Given the description of an element on the screen output the (x, y) to click on. 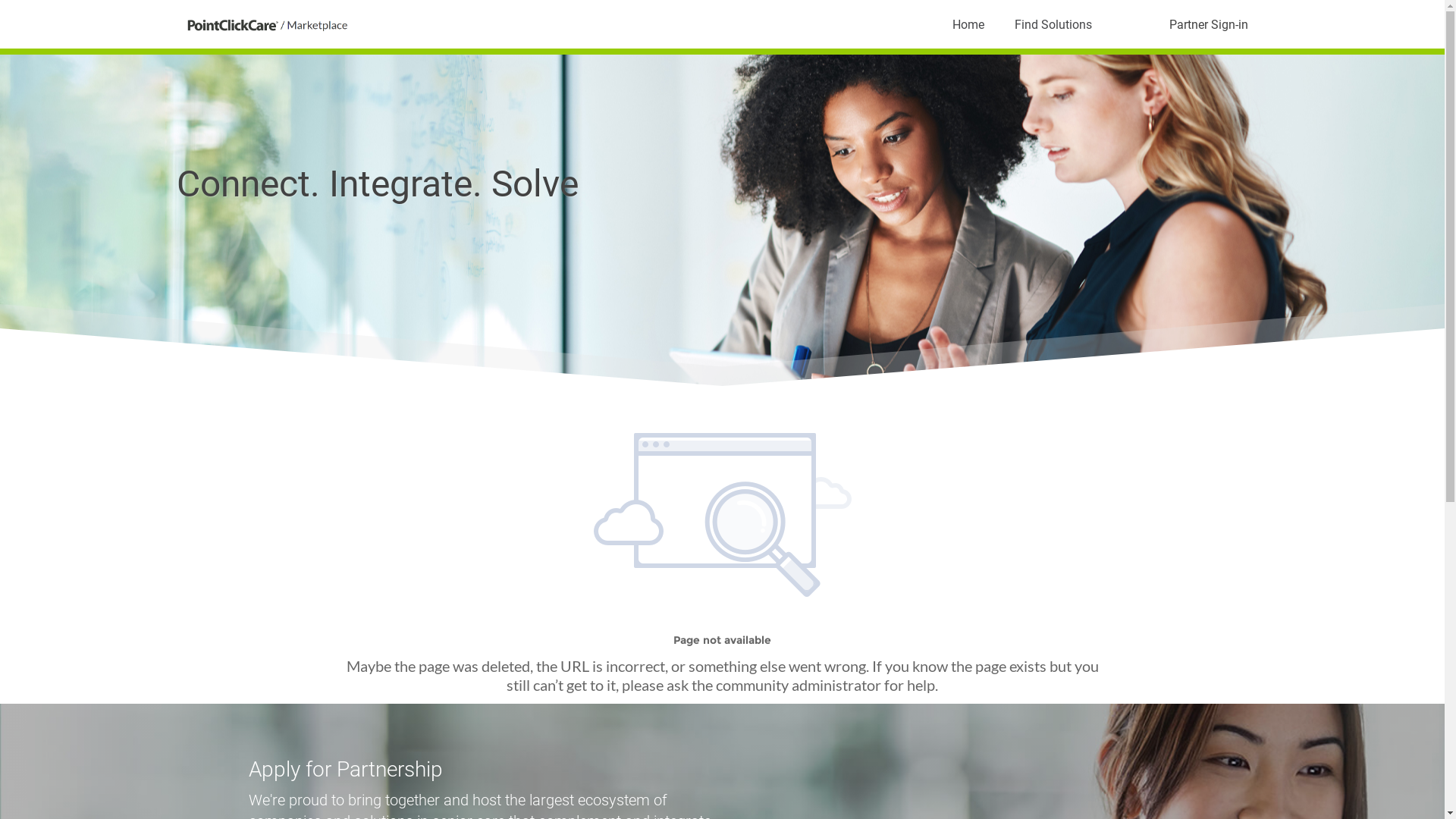
Find Solutions Element type: text (1052, 23)
Home Element type: text (967, 23)
Marketplace Element type: text (266, 23)
Partner Sign-in Element type: text (1207, 23)
Skip to Main Content Element type: text (9, 4)
